Given the description of an element on the screen output the (x, y) to click on. 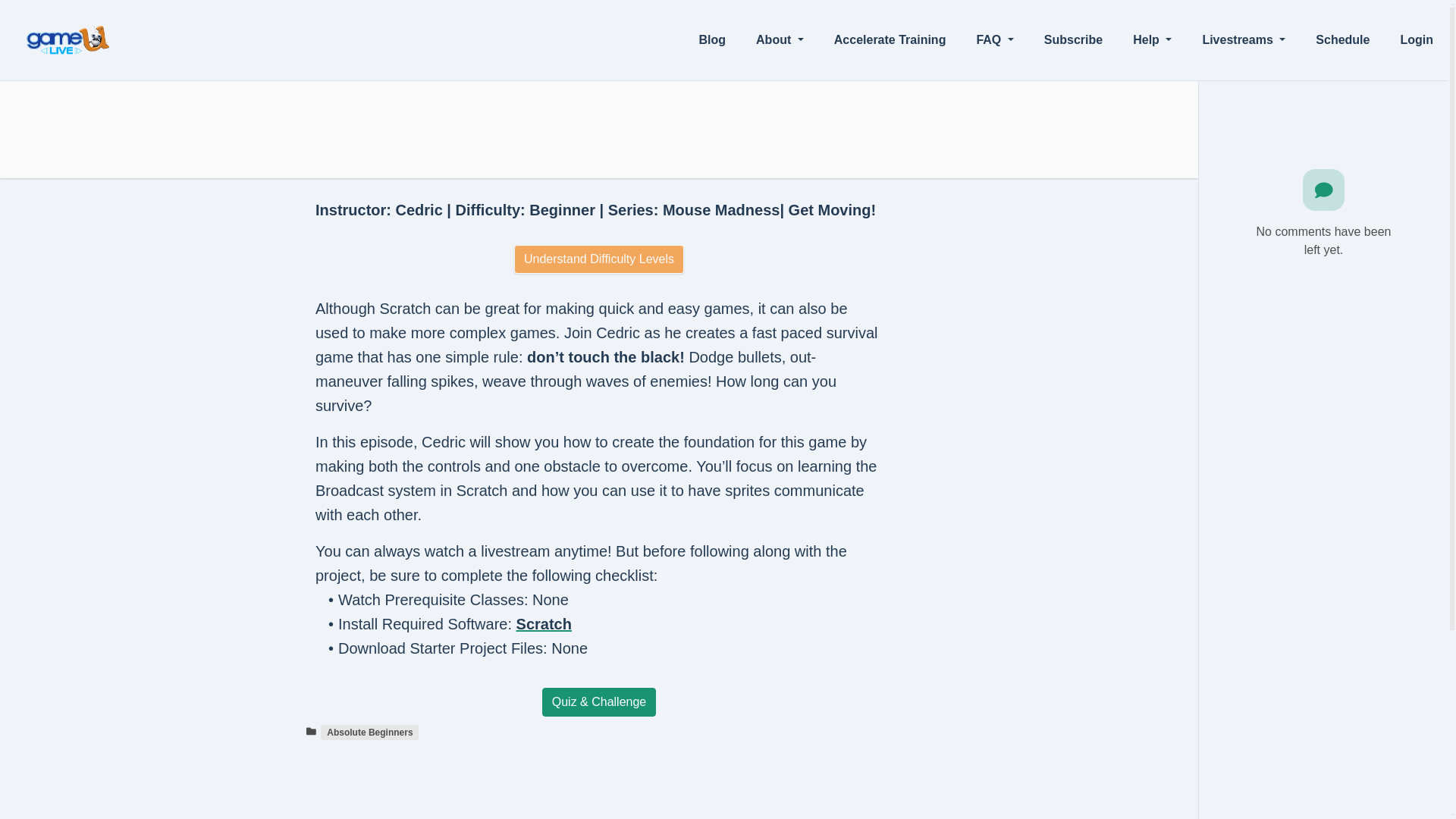
Schedule (1342, 40)
About (779, 40)
Livestreams (1243, 40)
Subscribe (1073, 40)
Help (1152, 40)
Accelerate Training (889, 40)
FAQ (993, 40)
Blog (712, 40)
